Given the description of an element on the screen output the (x, y) to click on. 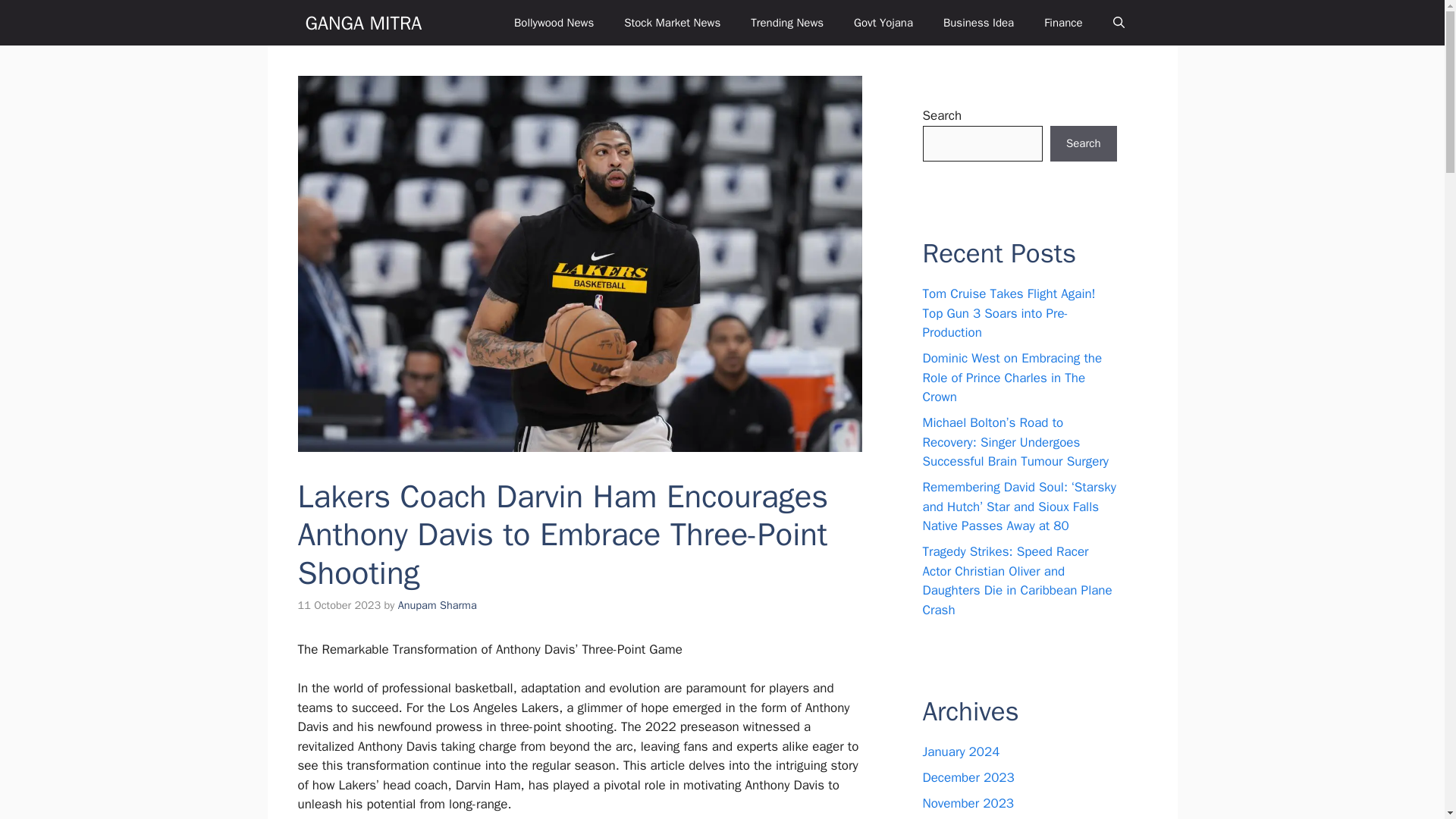
Search (1082, 144)
Stock Market News (671, 22)
Anupam Sharma (437, 604)
Finance (1063, 22)
Trending News (786, 22)
View all posts by Anupam Sharma (437, 604)
Business Idea (978, 22)
Bollywood News (553, 22)
Govt Yojana (883, 22)
